Given the description of an element on the screen output the (x, y) to click on. 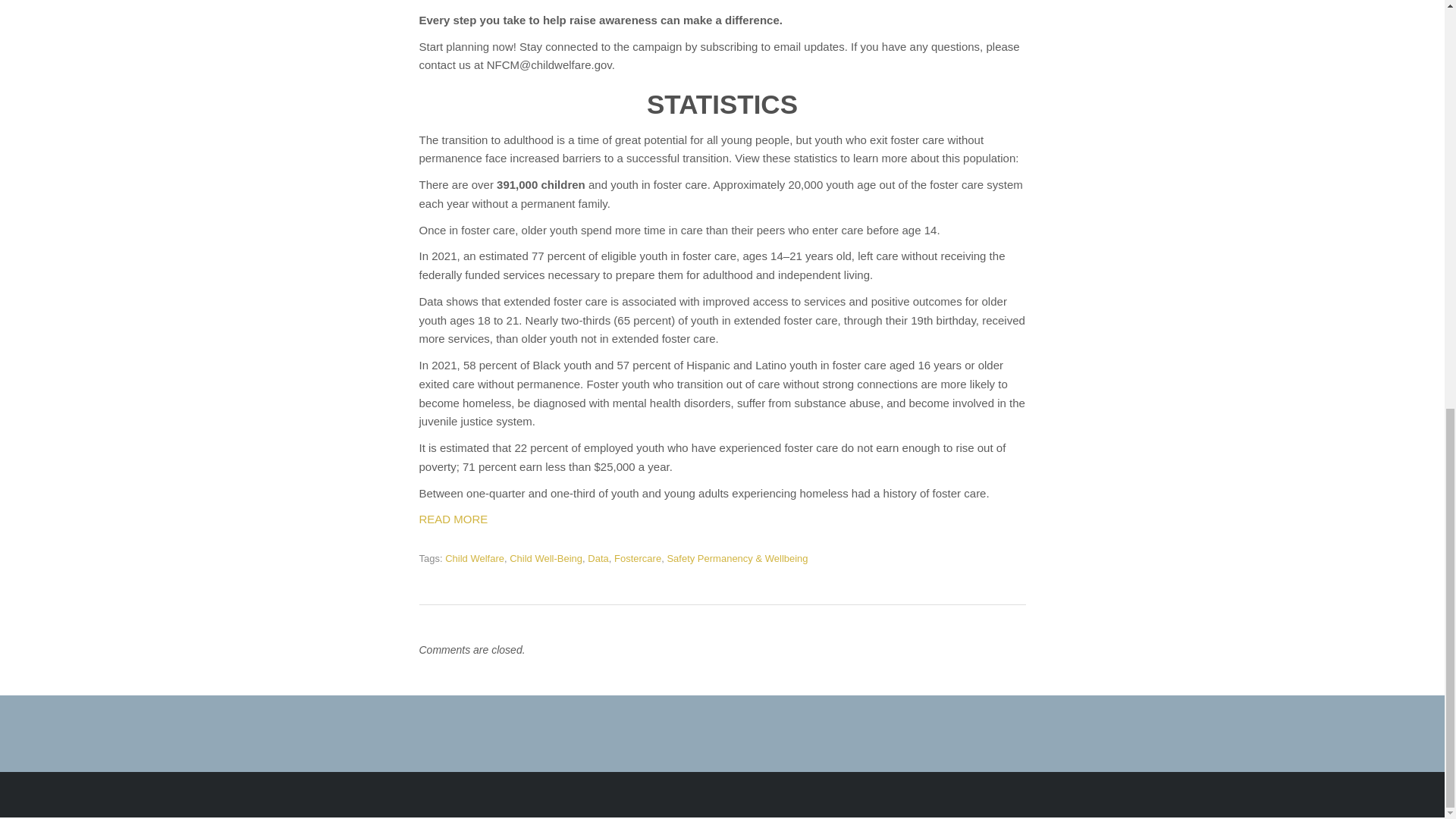
Data (598, 558)
Fostercare (637, 558)
Child Welfare (474, 558)
Child Well-Being (545, 558)
READ MORE (453, 518)
